Given the description of an element on the screen output the (x, y) to click on. 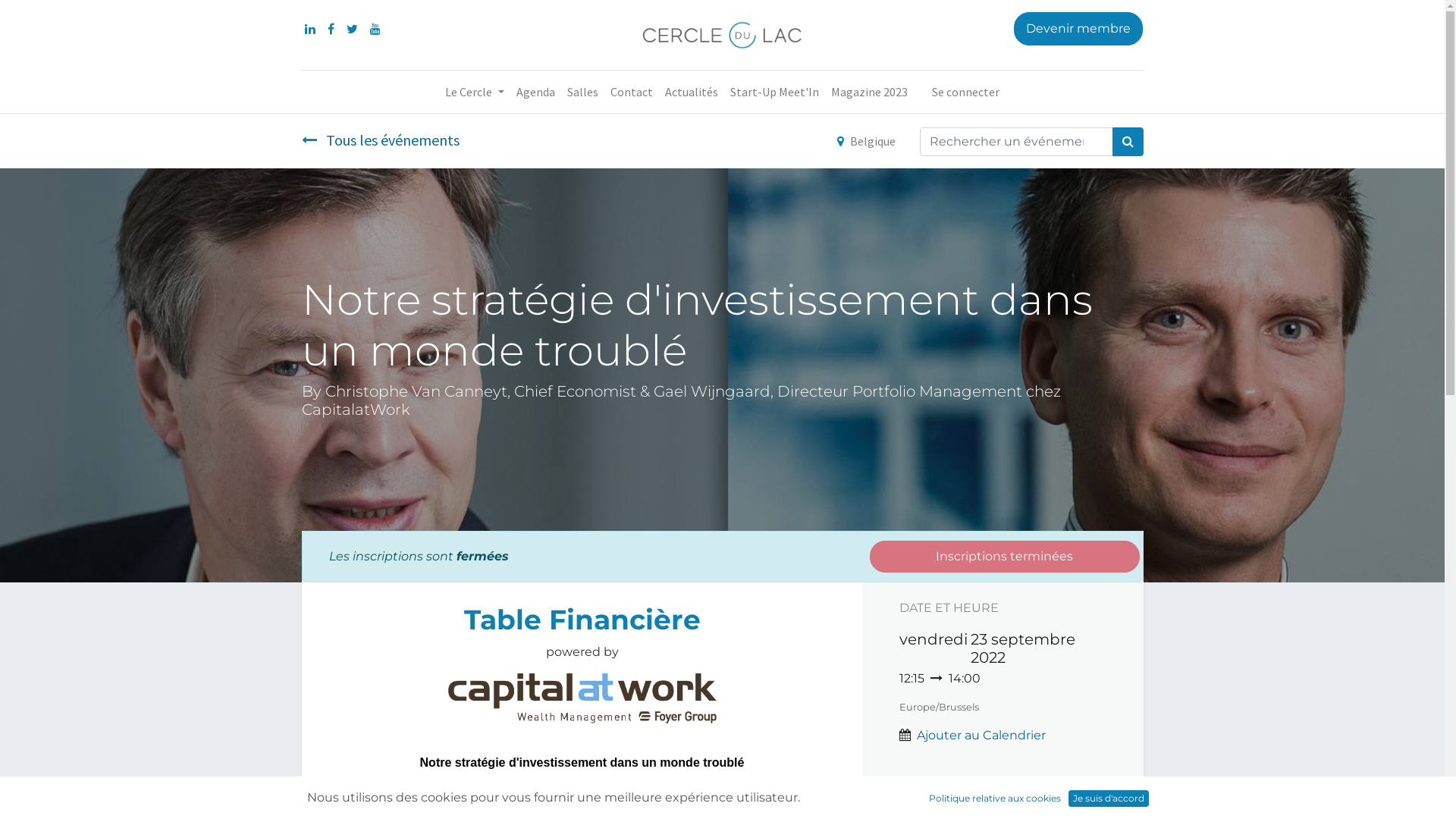
Rechercher Element type: hover (1126, 141)
Politique relative aux cookies Element type: text (994, 798)
Ajouter au Calendrier Element type: text (980, 735)
Magazine 2023 Element type: text (869, 91)
Le Cercle Element type: text (474, 91)
Je suis d'accord Element type: text (1108, 798)
Salles Element type: text (582, 91)
Se connecter Element type: text (965, 91)
Cercle du Lac Element type: hover (722, 34)
Contact Element type: text (631, 91)
Belgique Element type: text (866, 140)
Agenda Element type: text (535, 91)
Start-Up Meet'In Element type: text (774, 91)
Devenir membre Element type: text (1077, 28)
